Given the description of an element on the screen output the (x, y) to click on. 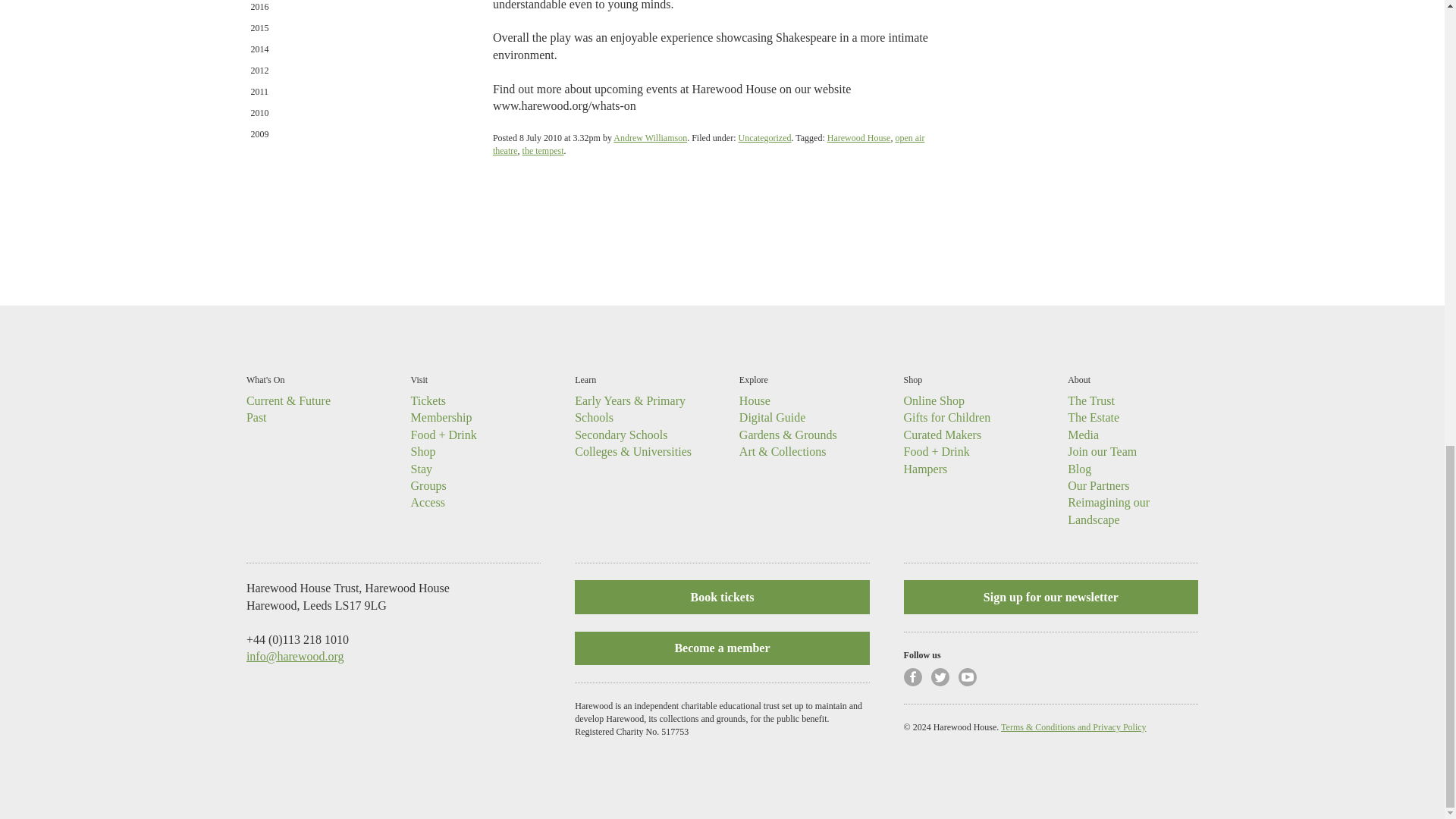
What's On (264, 379)
Explore (753, 379)
Visit (419, 379)
About (1078, 379)
Learn (585, 379)
